Given the description of an element on the screen output the (x, y) to click on. 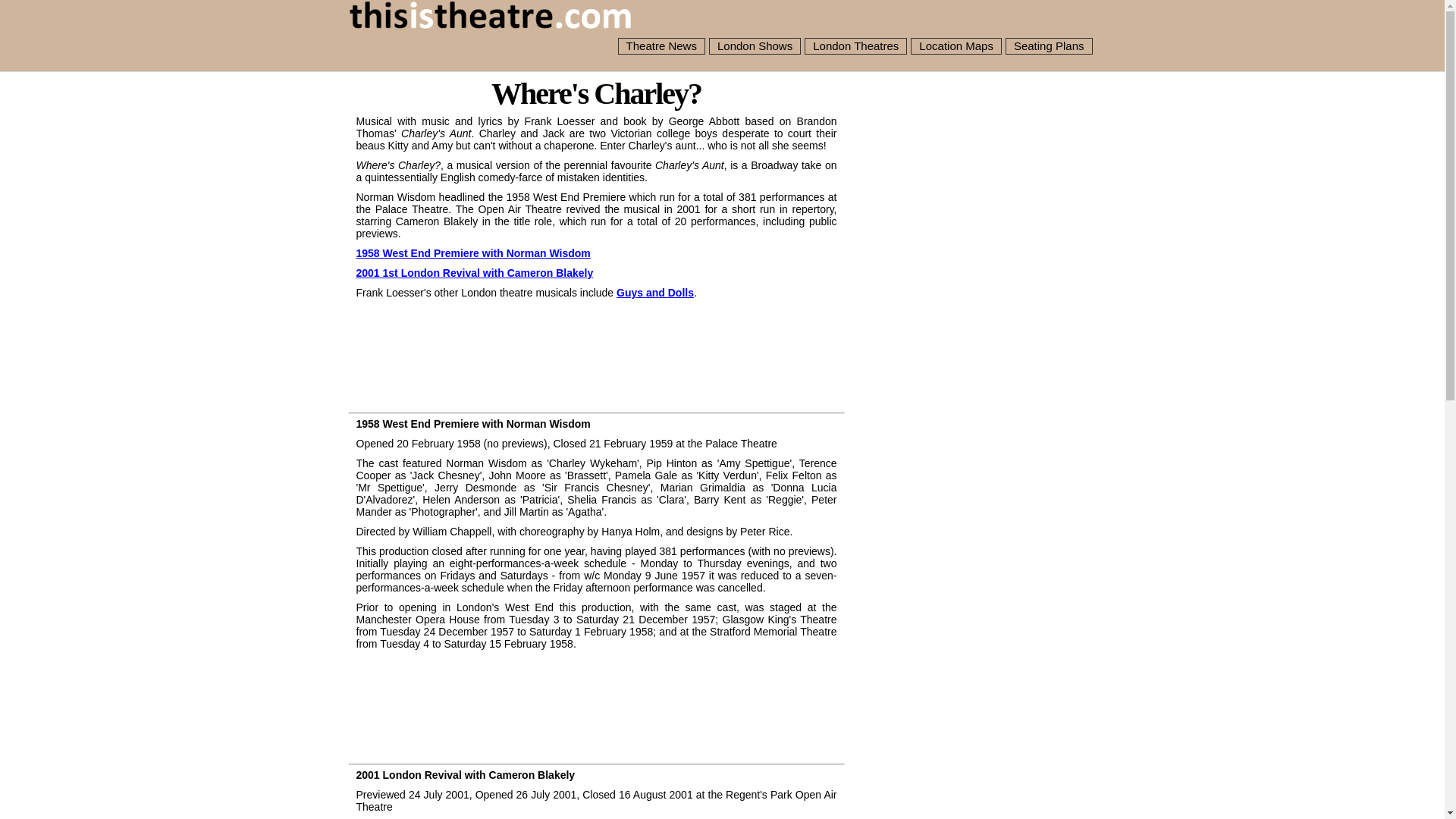
back to home page (491, 20)
Seating Plans (1049, 45)
Guys and Dolls (654, 292)
London Theatres (856, 45)
2001 1st London Revival with Cameron Blakely (475, 272)
Location Maps (956, 45)
Theatre News (660, 45)
London Shows (754, 45)
1958 West End Premiere with Norman Wisdom (473, 253)
